Given the description of an element on the screen output the (x, y) to click on. 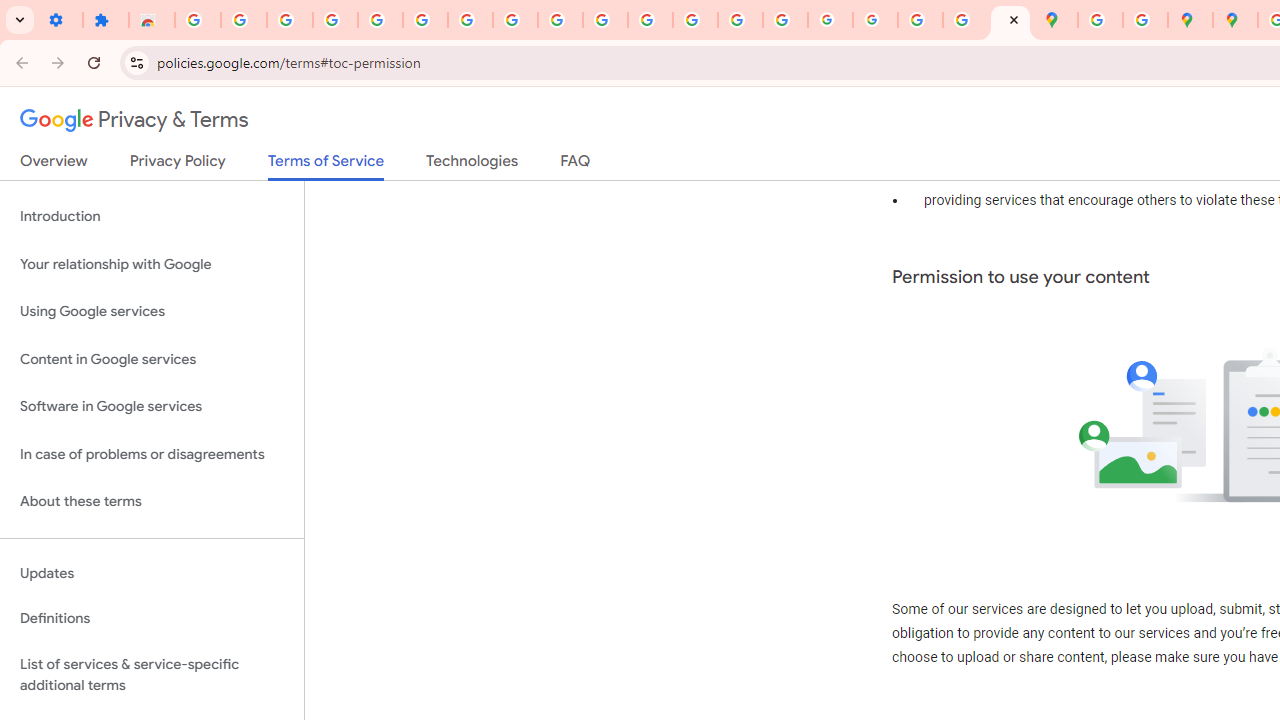
Definitions (152, 619)
Introduction (152, 216)
Sign in - Google Accounts (425, 20)
Using Google services (152, 312)
